Given the description of an element on the screen output the (x, y) to click on. 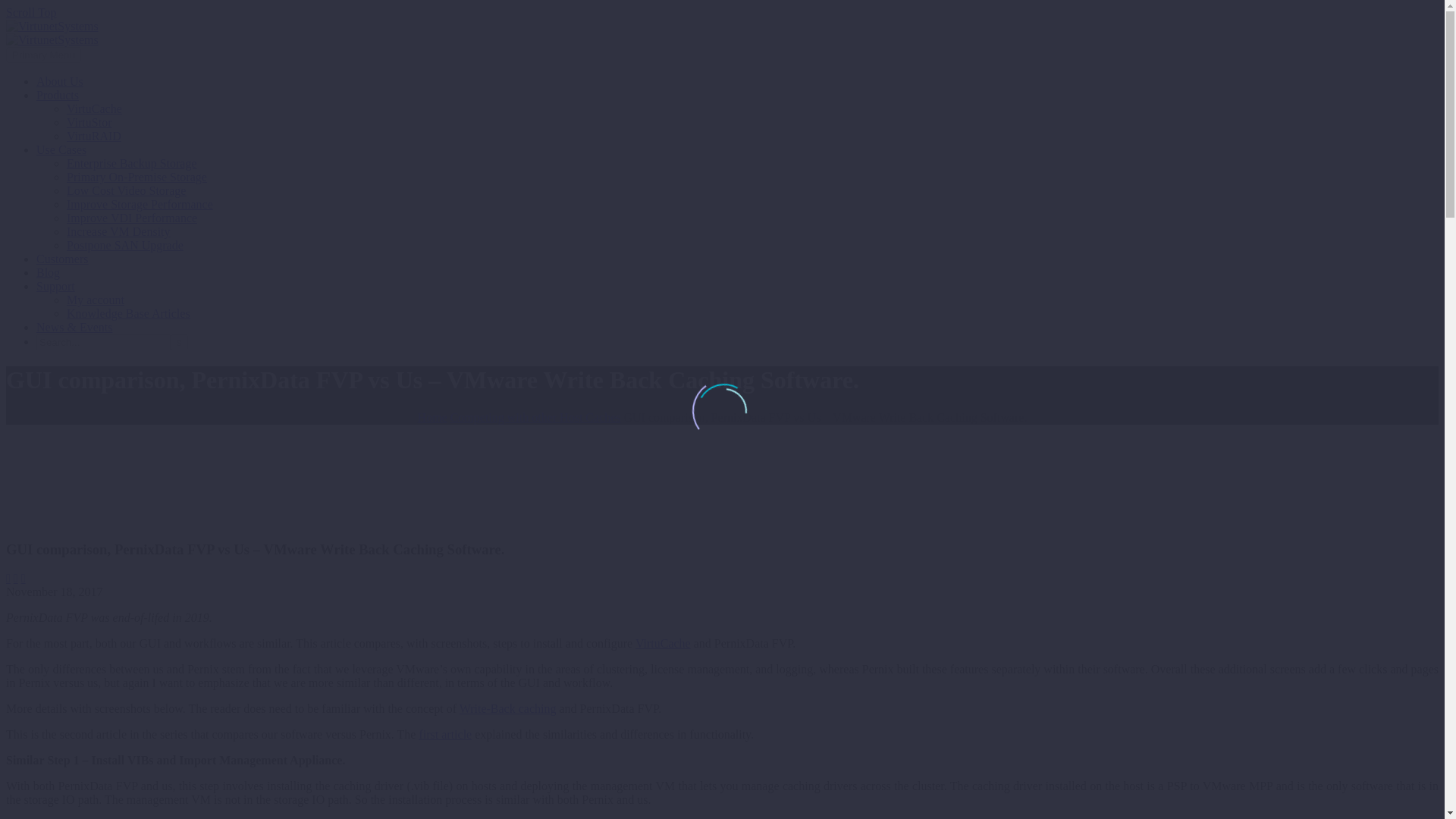
first article (445, 734)
Customers (61, 258)
Use Cases (60, 149)
Improve Storage Performance (139, 204)
Primary Menu (43, 54)
Competing with other Host Caches (535, 417)
Low Cost Video Storage (126, 190)
About Us (59, 81)
VirtuRAID (93, 135)
VirtuCache (94, 108)
Improve VDI Performance (131, 217)
Support (55, 286)
Primary On-Premise Storage (136, 176)
Postpone SAN Upgrade (124, 245)
Increase VM Density (118, 231)
